Given the description of an element on the screen output the (x, y) to click on. 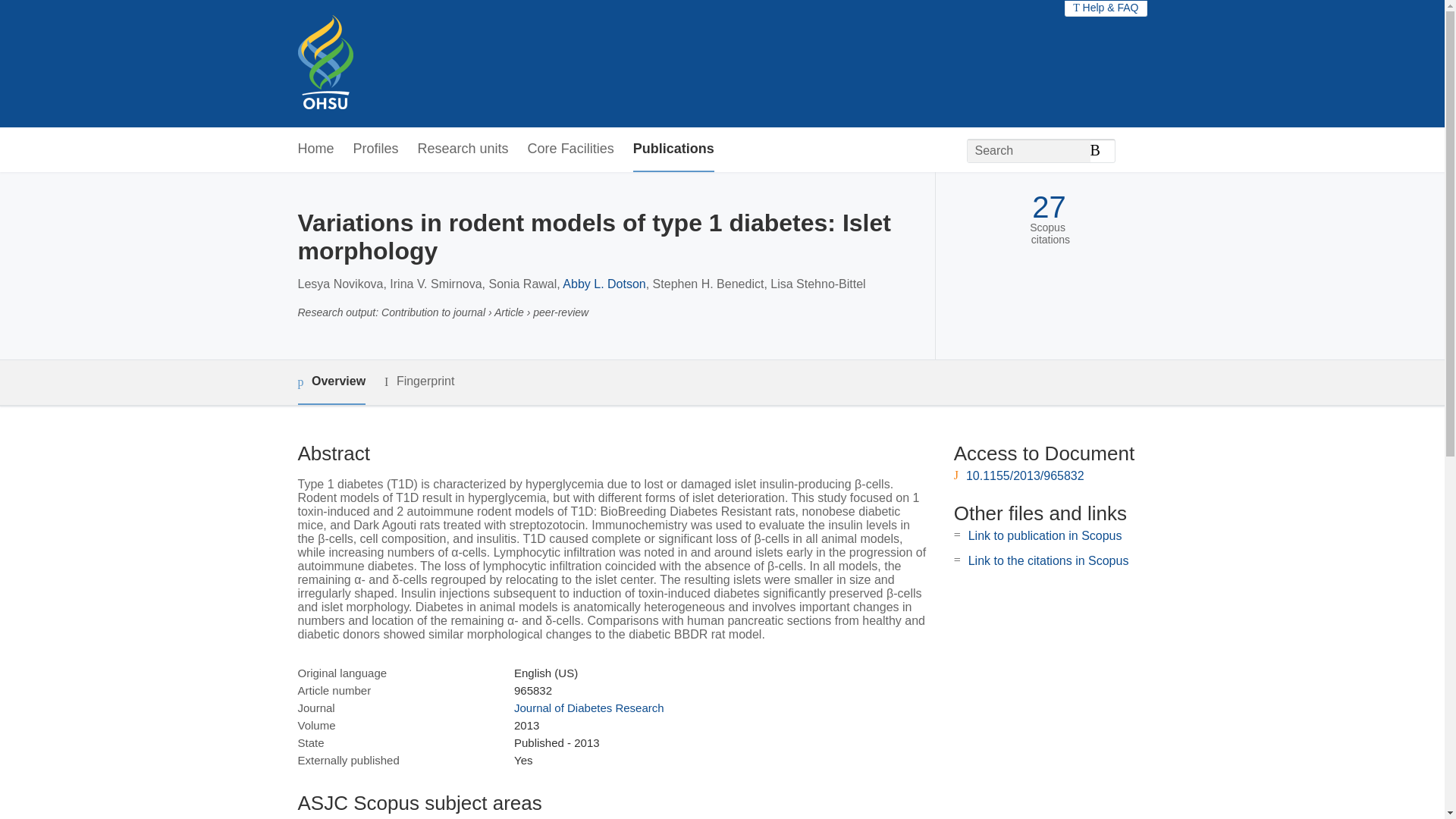
27 (1048, 207)
Overview (331, 382)
Research units (462, 149)
Profiles (375, 149)
Abby L. Dotson (603, 283)
Link to publication in Scopus (1045, 535)
Link to the citations in Scopus (1048, 560)
Journal of Diabetes Research (588, 707)
Fingerprint (419, 381)
